Given the description of an element on the screen output the (x, y) to click on. 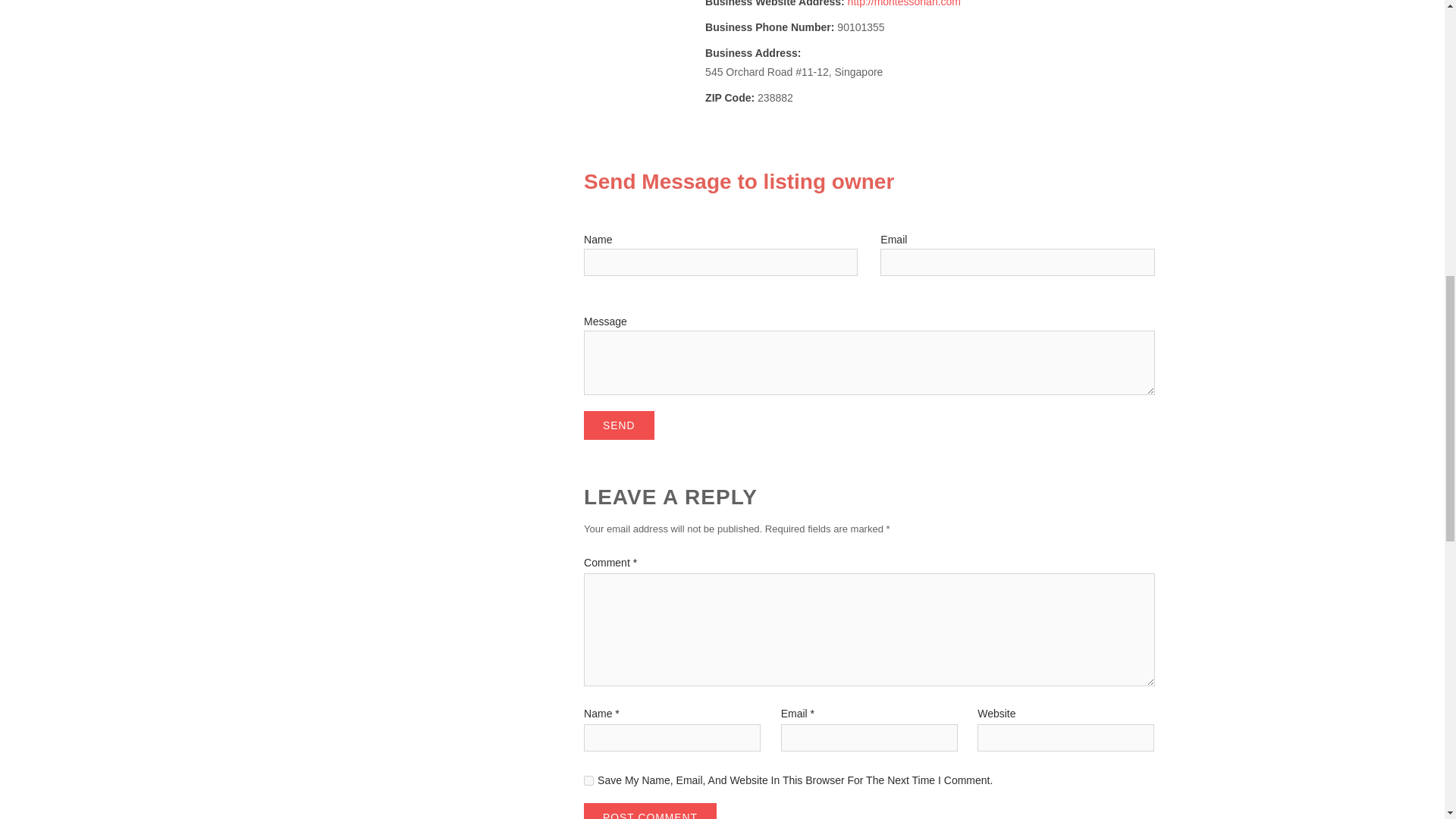
Send (618, 425)
Post Comment (649, 811)
yes (588, 780)
